Given the description of an element on the screen output the (x, y) to click on. 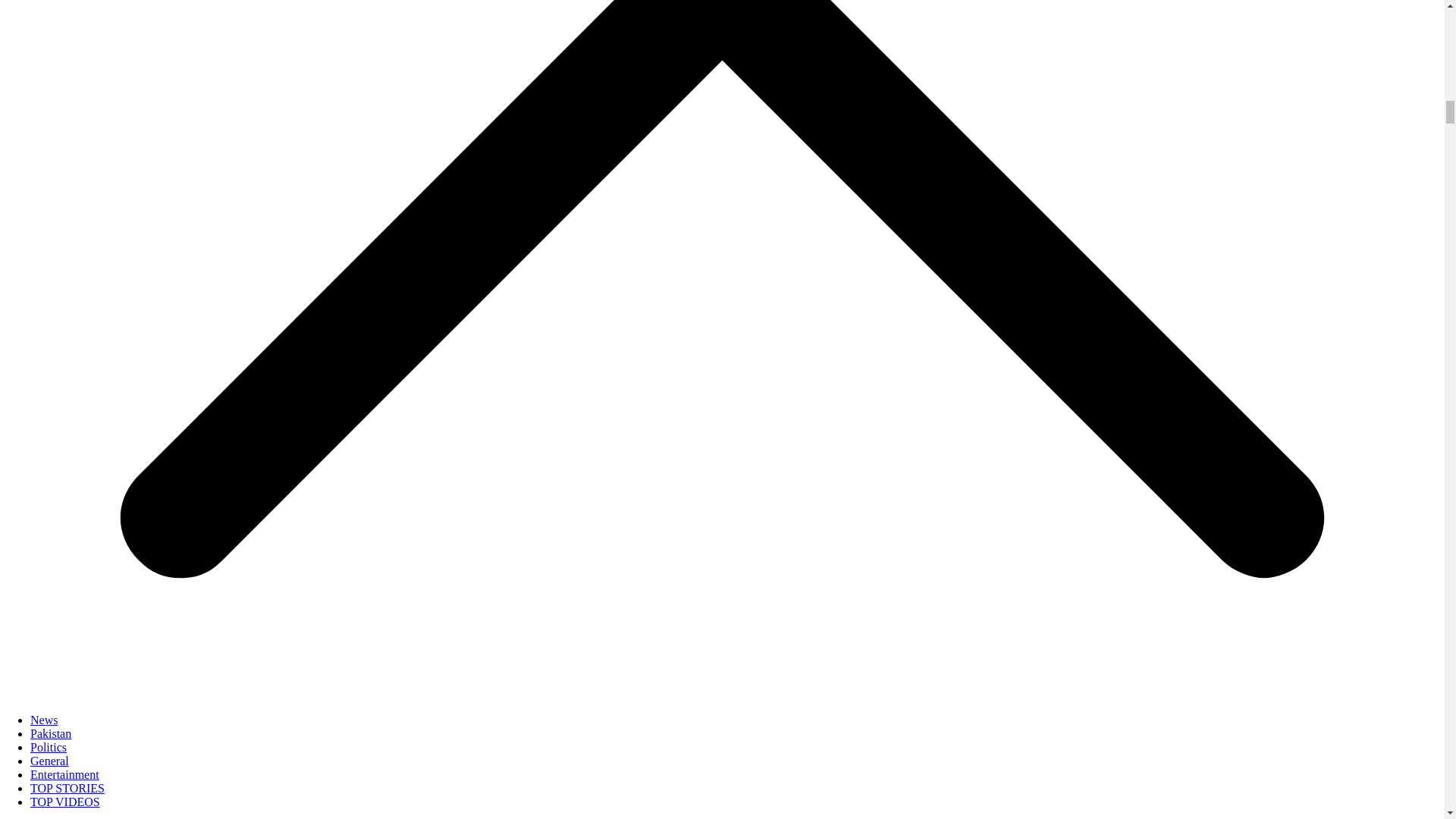
General (49, 760)
Pakistan (50, 733)
TOP VIDEOS (65, 801)
Politics (48, 747)
Entertainment (64, 774)
TOP STORIES (67, 788)
News (44, 719)
